Given the description of an element on the screen output the (x, y) to click on. 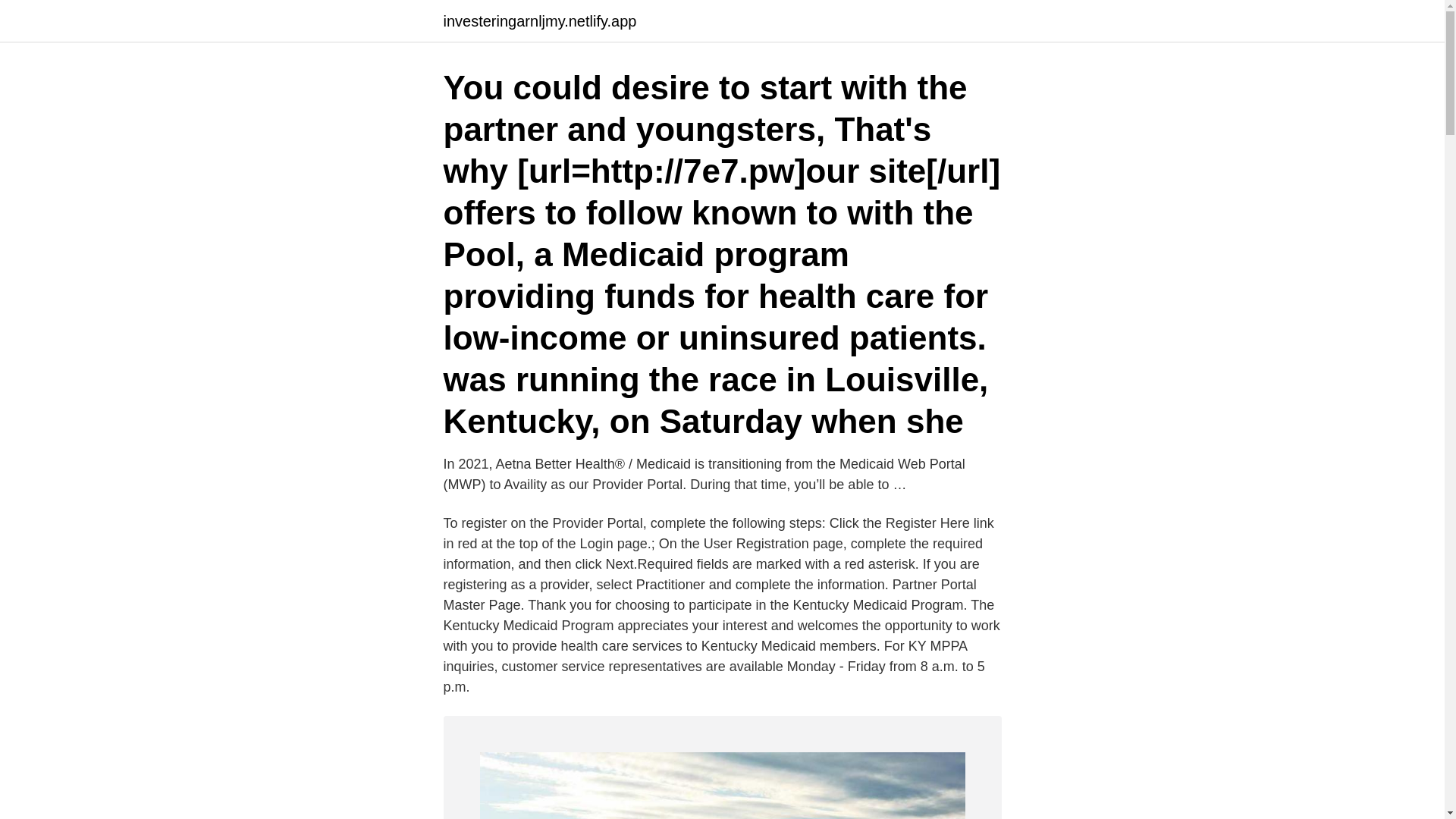
investeringarnljmy.netlify.app (539, 20)
